Given the description of an element on the screen output the (x, y) to click on. 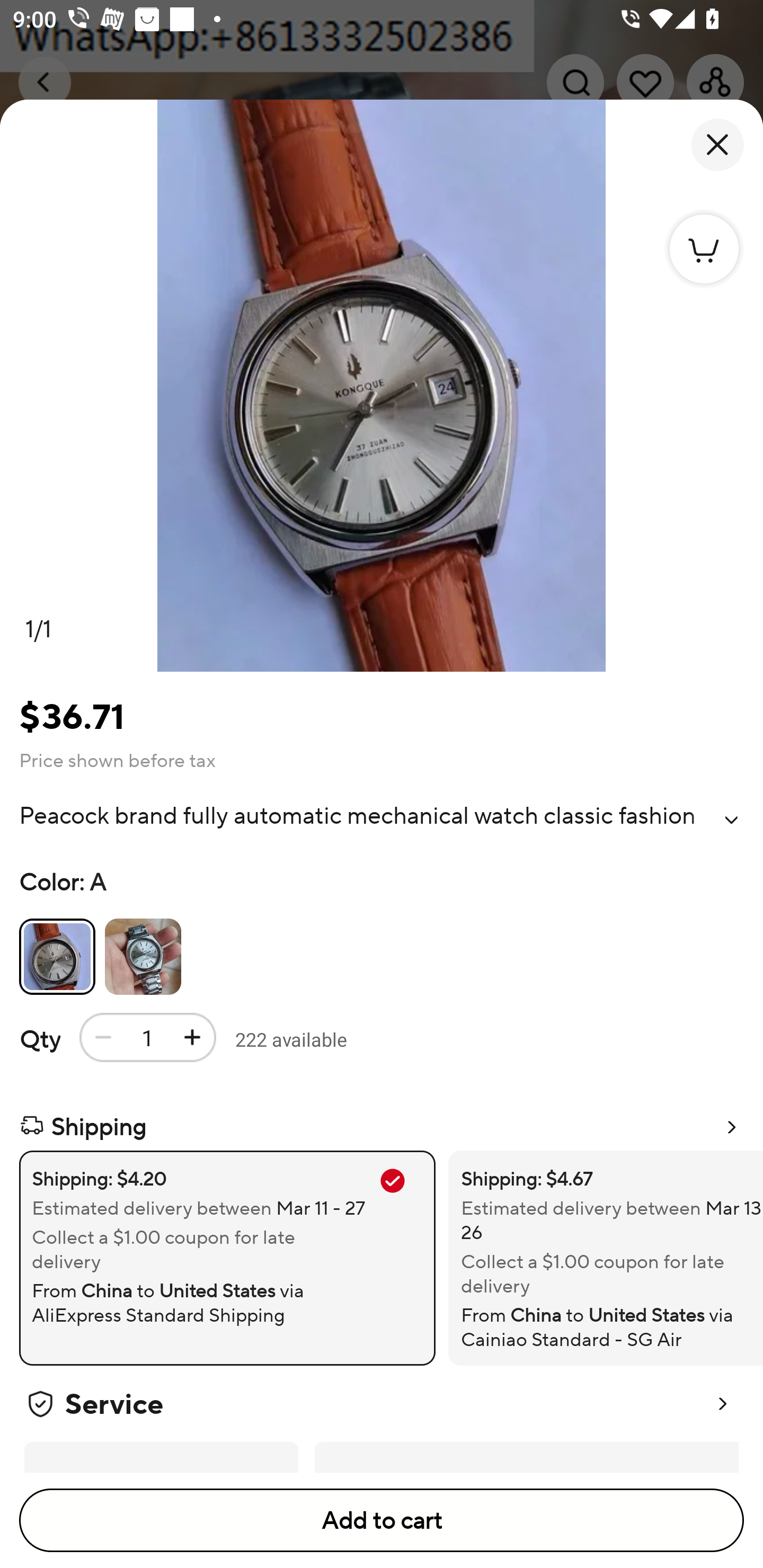
close  (717, 144)
 (730, 819)
Add to cart (381, 1520)
